Given the description of an element on the screen output the (x, y) to click on. 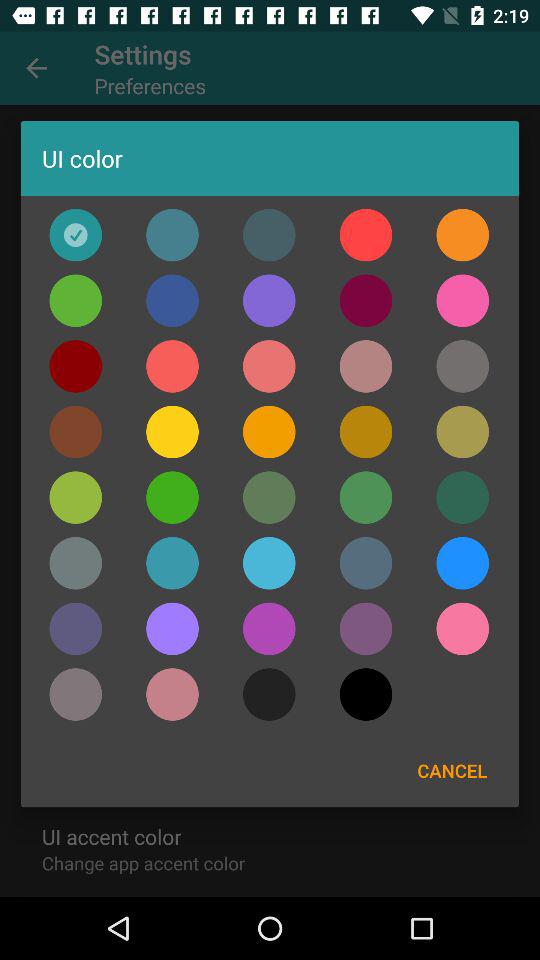
select the color bar (269, 628)
